Given the description of an element on the screen output the (x, y) to click on. 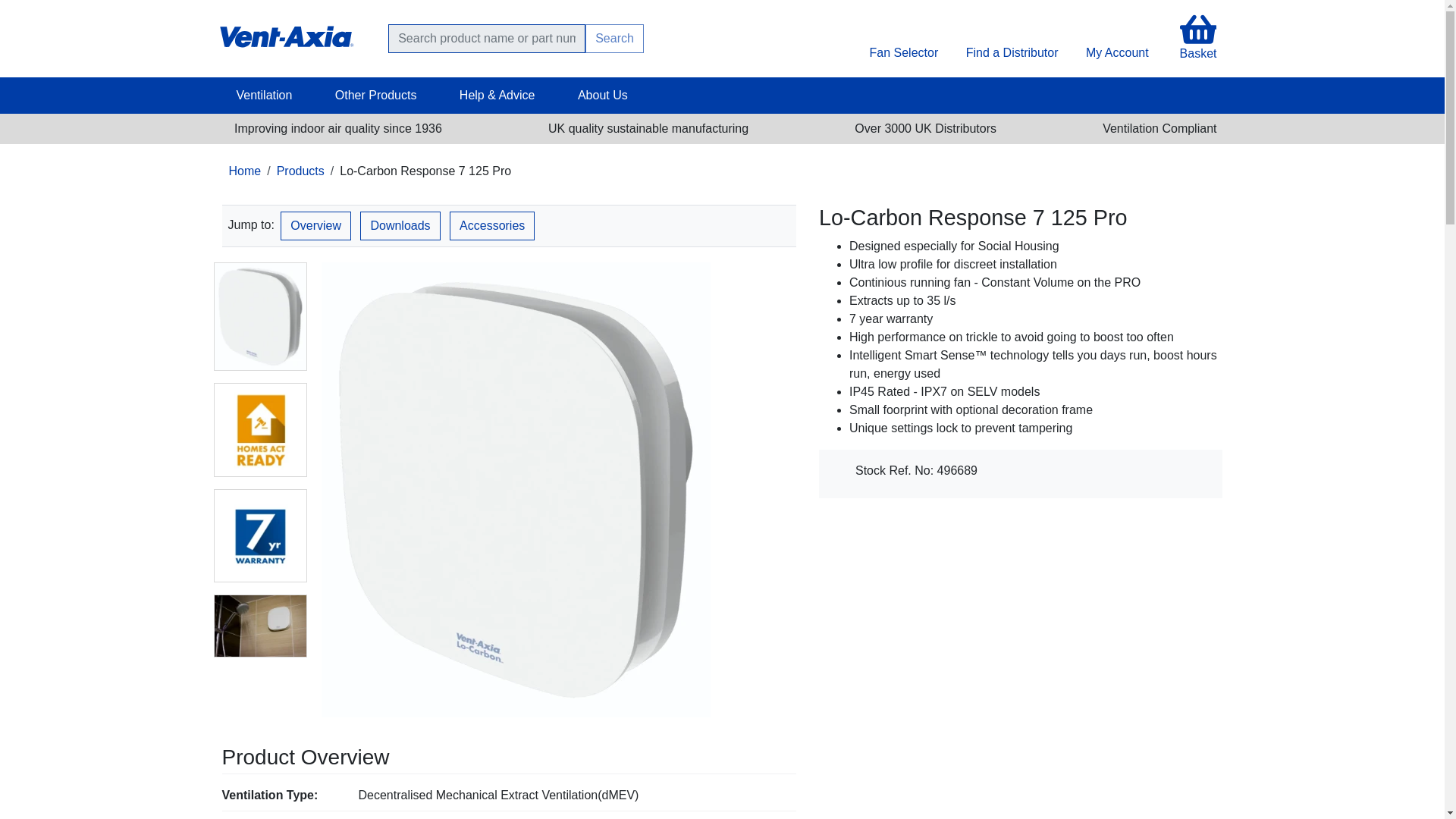
Search (614, 38)
Search (614, 38)
Home (284, 32)
Find a Distributor (1012, 51)
Fan Selector (903, 51)
My Account (1117, 51)
